Given the description of an element on the screen output the (x, y) to click on. 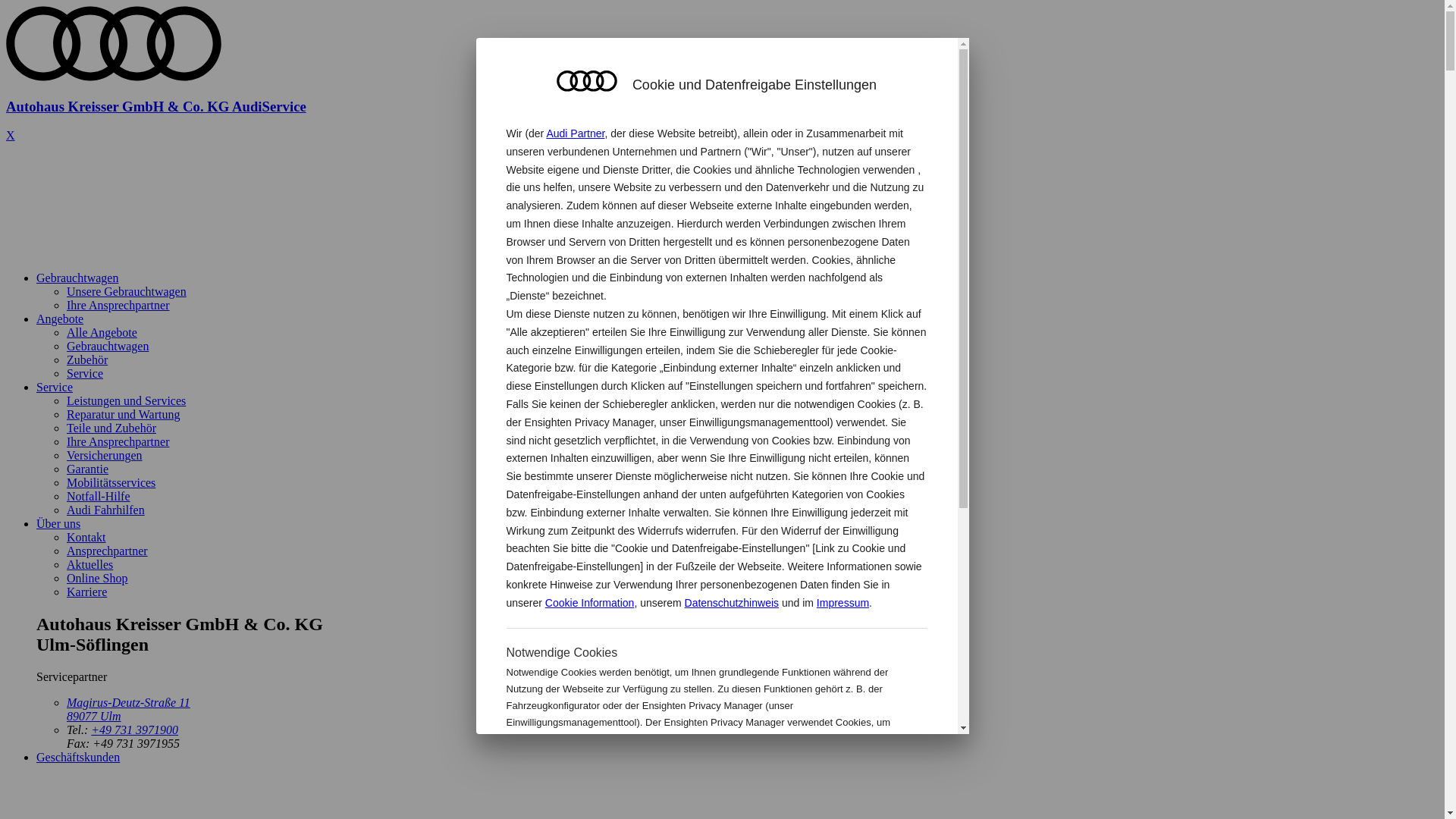
Versicherungen Element type: text (104, 454)
Online Shop Element type: text (96, 577)
Unsere Gebrauchtwagen Element type: text (126, 291)
Audi Partner Element type: text (575, 133)
Service Element type: text (84, 373)
Gebrauchtwagen Element type: text (77, 277)
Alle Angebote Element type: text (101, 332)
Impressum Element type: text (842, 602)
Gebrauchtwagen Element type: text (107, 345)
Datenschutzhinweis Element type: text (731, 602)
+49 731 3971900 Element type: text (134, 729)
Ihre Ansprechpartner Element type: text (117, 304)
Service Element type: text (54, 386)
Notfall-Hilfe Element type: text (98, 495)
Garantie Element type: text (87, 468)
X Element type: text (10, 134)
Cookie Information Element type: text (847, 772)
Cookie Information Element type: text (589, 602)
Leistungen und Services Element type: text (125, 400)
Angebote Element type: text (59, 318)
Ihre Ansprechpartner Element type: text (117, 441)
Audi Fahrhilfen Element type: text (105, 509)
Aktuelles Element type: text (89, 564)
Reparatur und Wartung Element type: text (122, 413)
Ansprechpartner Element type: text (106, 550)
Autohaus Kreisser GmbH & Co. KG AudiService Element type: text (722, 92)
Kontakt Element type: text (86, 536)
Karriere Element type: text (86, 591)
